Given the description of an element on the screen output the (x, y) to click on. 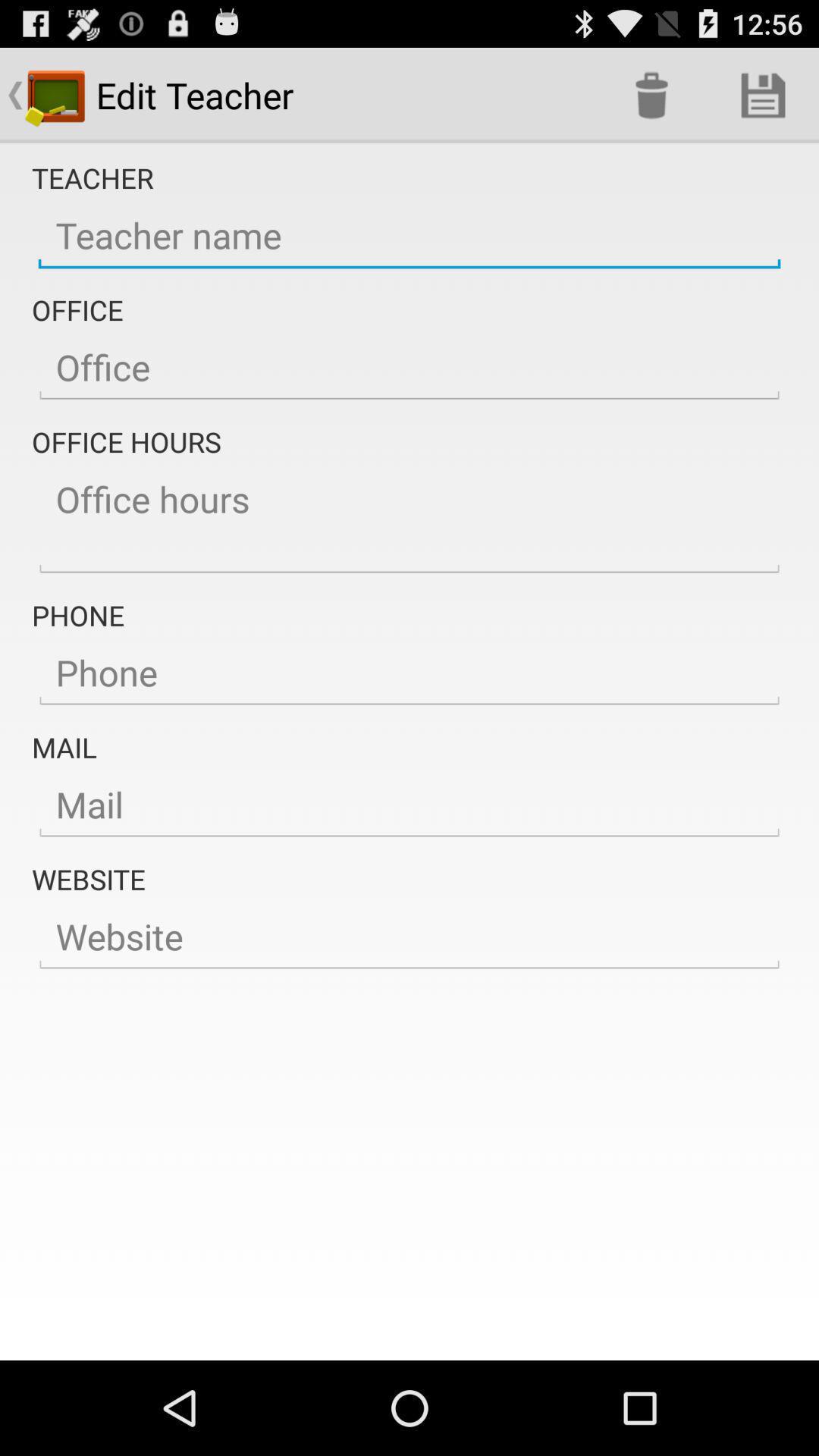
enter website (409, 937)
